Given the description of an element on the screen output the (x, y) to click on. 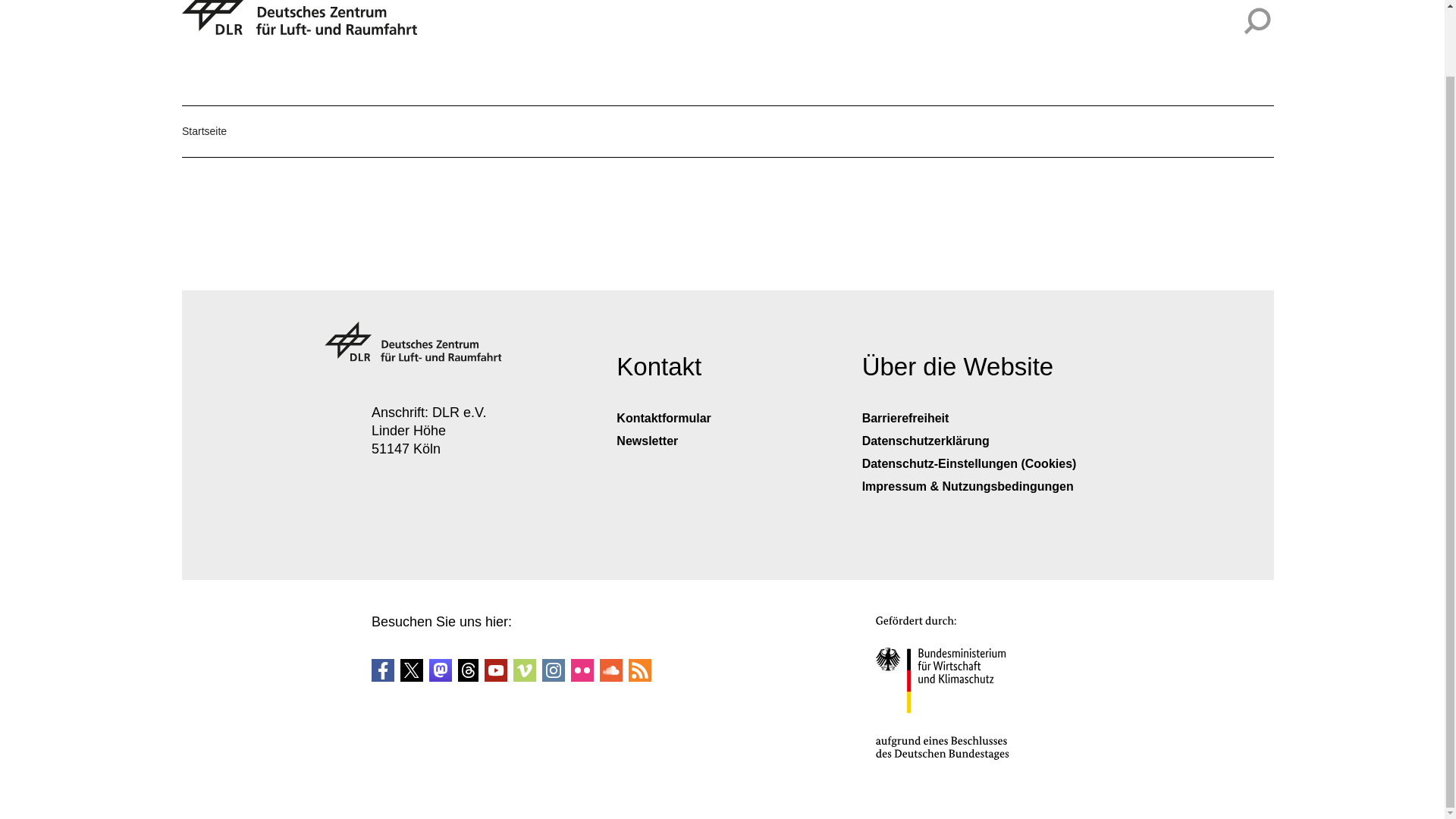
Besuchen Sie uns auf Facebook (382, 670)
Newsletter (646, 440)
Besuchen Sie uns auf Vimeo (524, 670)
Besuchen Sie uns auf Flicker (582, 670)
Besuchen Sie uns auf Instagram (552, 676)
Besuchen Sie uns auf Vimeo (524, 676)
Besuchen Sie uns auf Facebook (382, 676)
Besuchen Sie uns auf Threads (468, 670)
Startseite (204, 131)
Besuchen Sie uns auf Instagram (552, 670)
Besuchen Sie uns auf YouTube (495, 676)
Besuchen Sie uns auf SoundCloud (611, 670)
Besuchen Sie uns auf YouTube (495, 670)
Kontaktformular (662, 418)
Barrierefreiheit (905, 418)
